Given the description of an element on the screen output the (x, y) to click on. 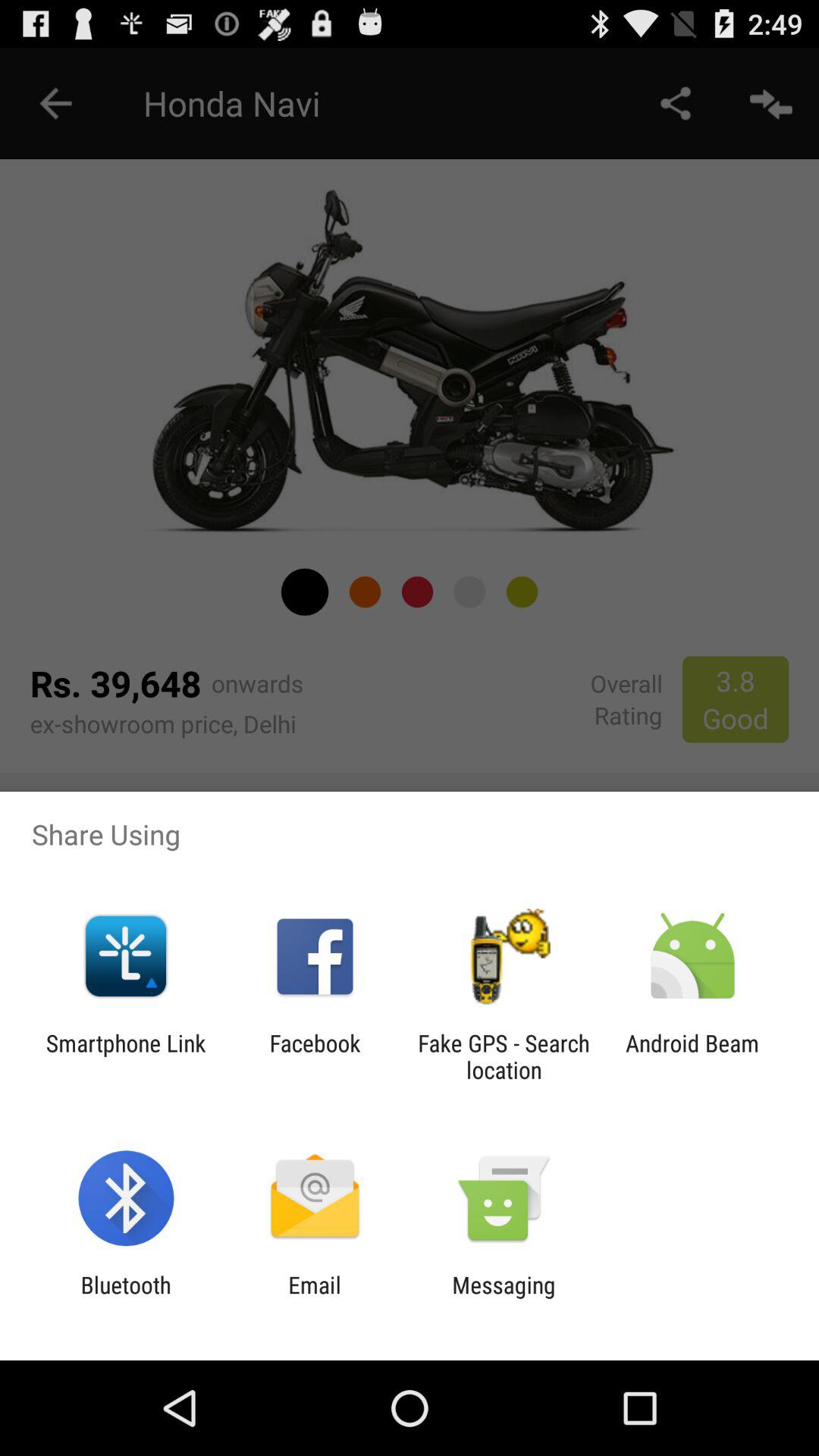
choose messaging (503, 1298)
